Given the description of an element on the screen output the (x, y) to click on. 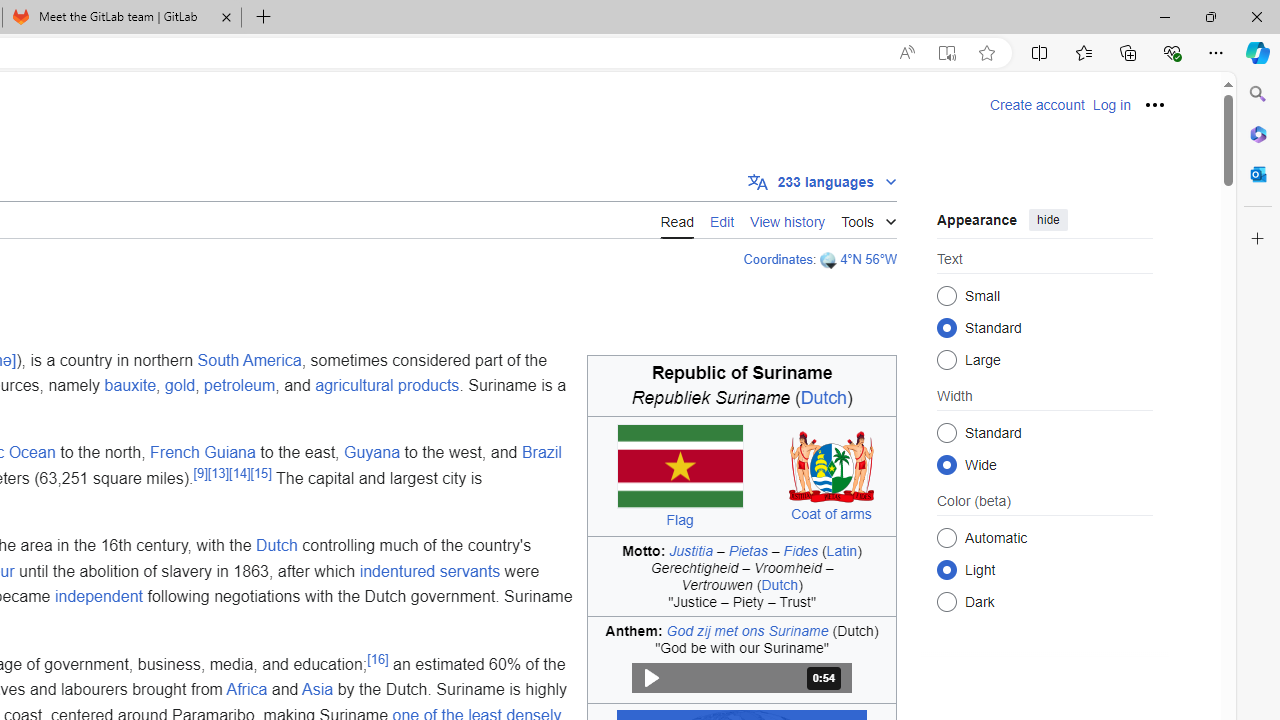
Africa (246, 690)
Light (946, 569)
independent (98, 597)
Personal tools (1155, 104)
indentured servants (429, 571)
[13] (218, 472)
Small (946, 295)
Read (676, 219)
[14] (239, 472)
Flag (679, 520)
Log in (1111, 105)
